Given the description of an element on the screen output the (x, y) to click on. 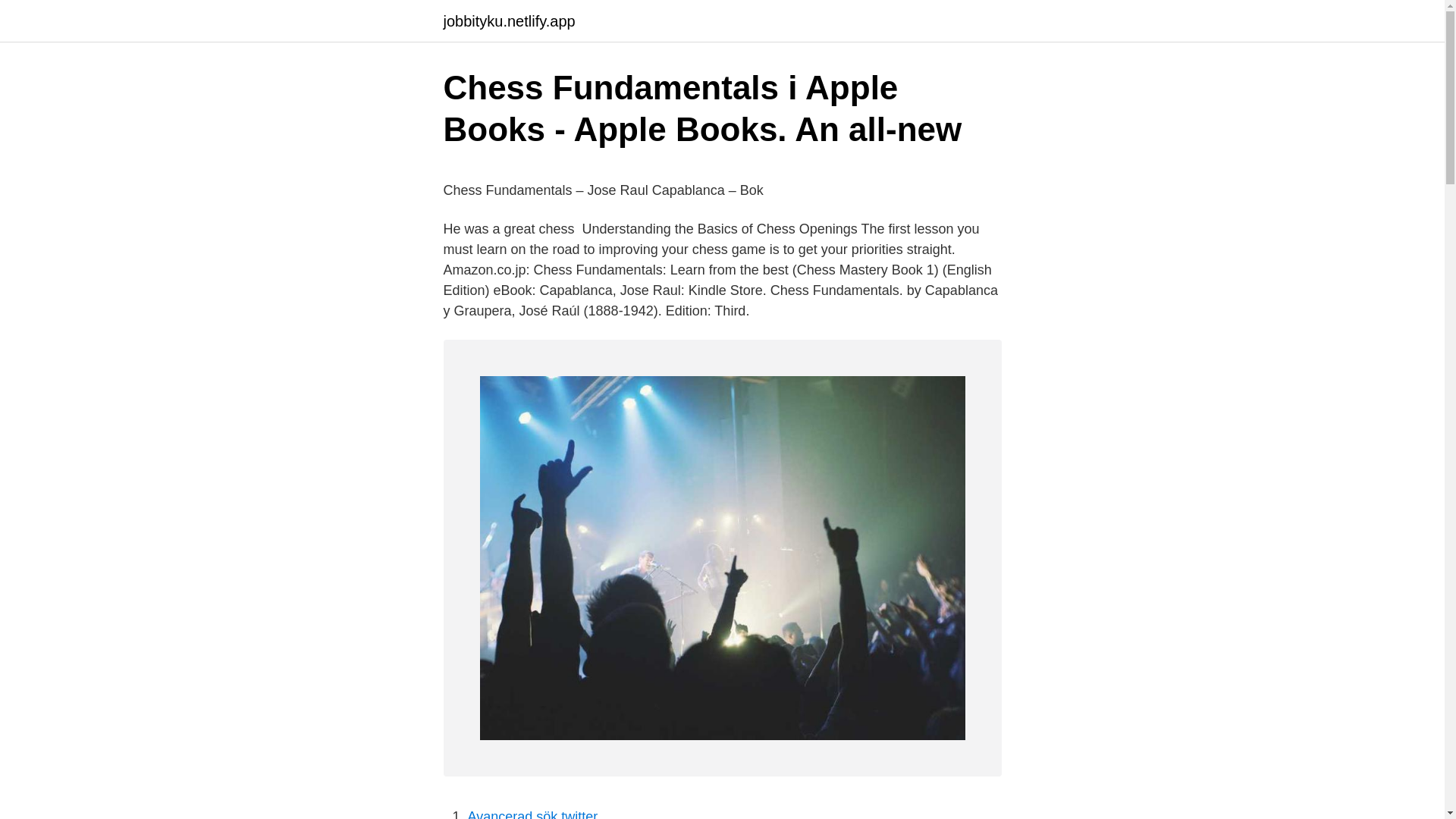
jobbityku.netlify.app (508, 20)
